Given the description of an element on the screen output the (x, y) to click on. 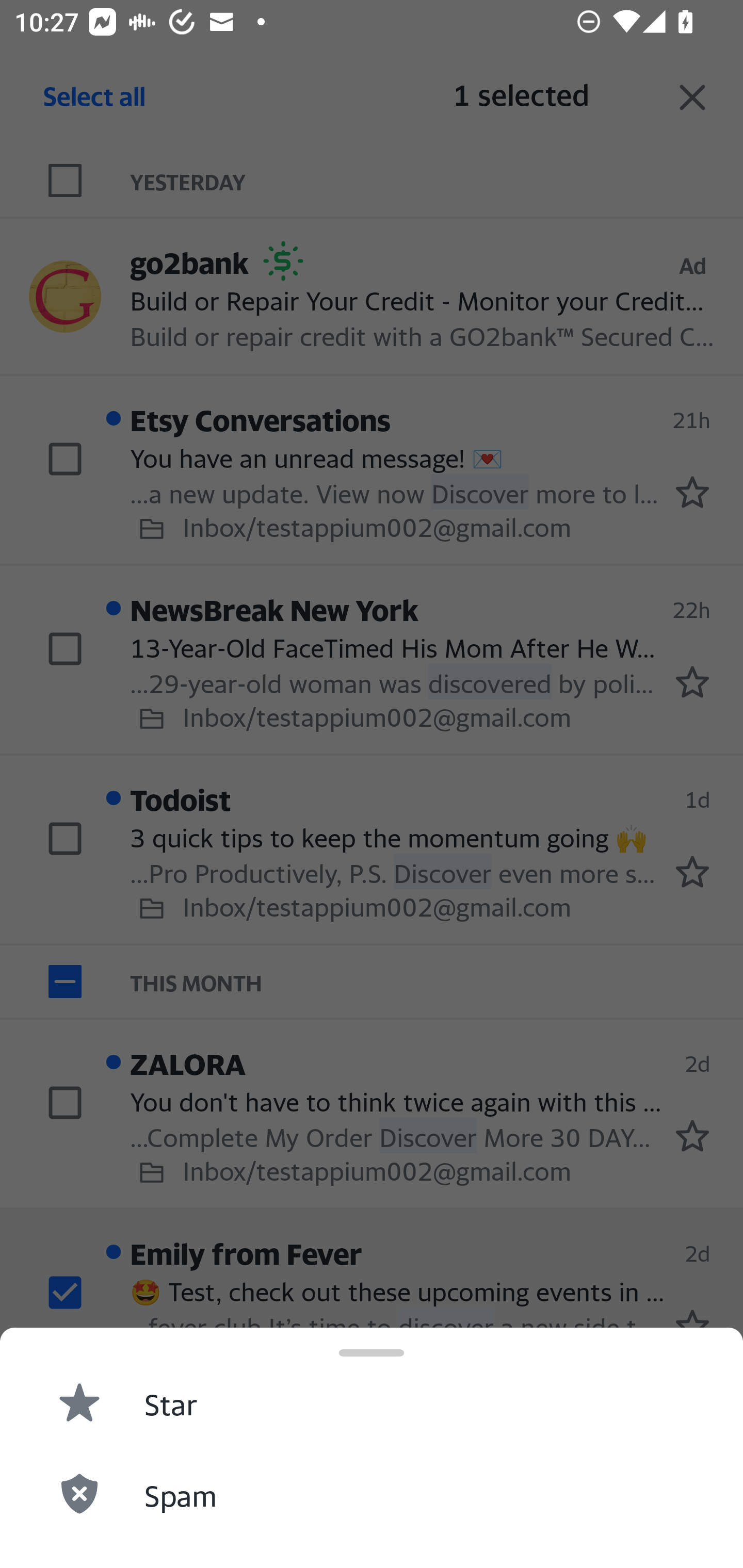
Star (371, 1401)
Spam (371, 1493)
